Given the description of an element on the screen output the (x, y) to click on. 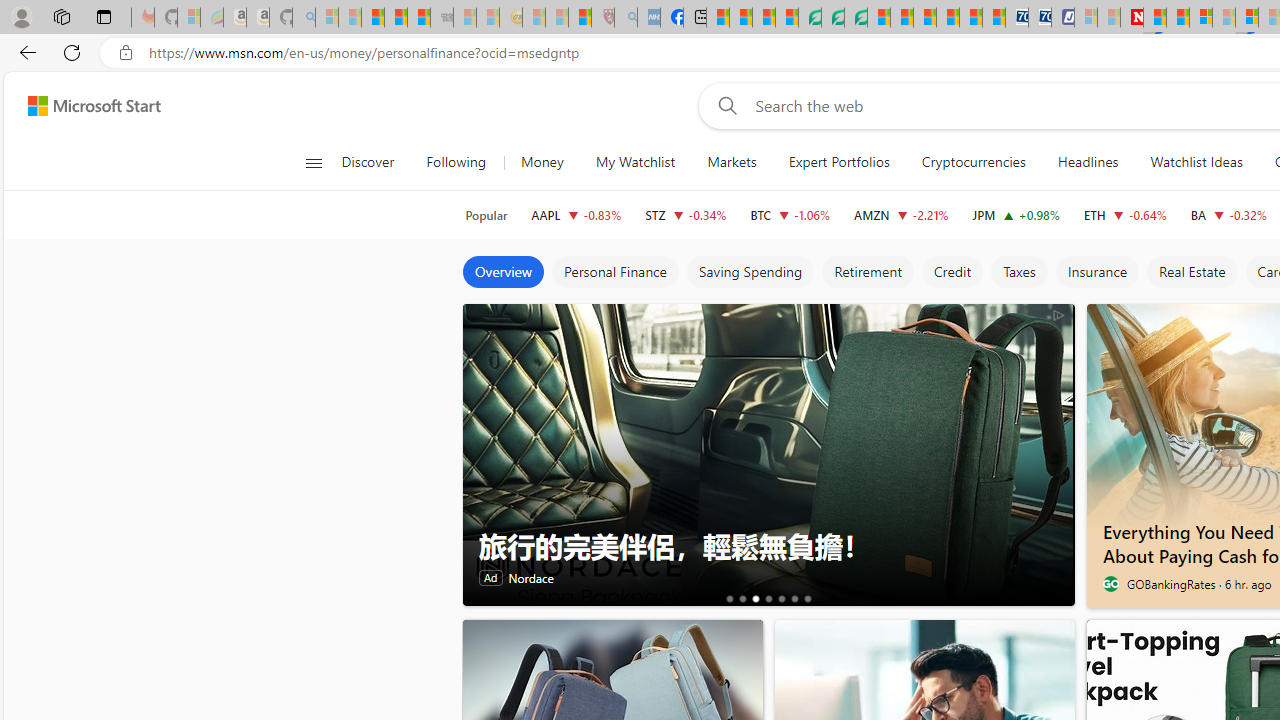
AdChoices (1058, 313)
BA THE BOEING COMPANY decrease 172.87 -0.56 -0.32% (1227, 214)
Taxes (1018, 272)
AAPL APPLE INC. decrease 224.53 -1.87 -0.83% (575, 214)
BTC Bitcoin decrease 60,599.60 -639.75 -1.06% (790, 214)
